Given the description of an element on the screen output the (x, y) to click on. 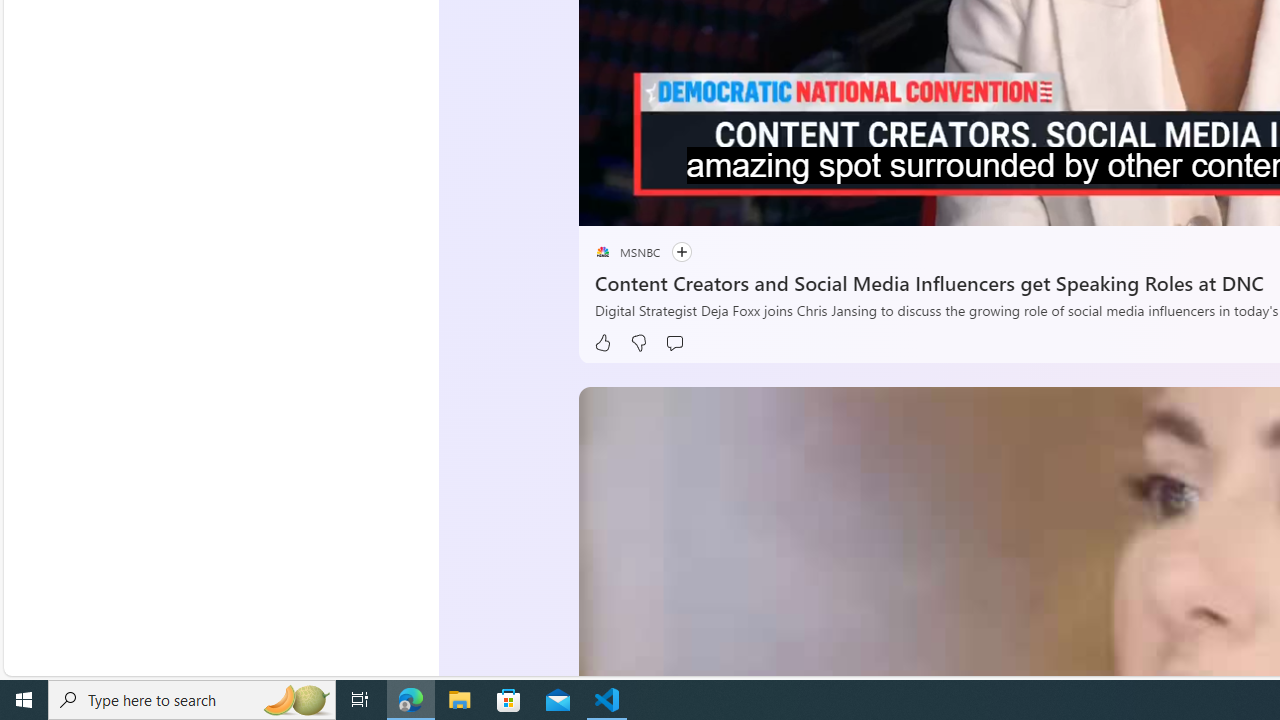
Pause (607, 203)
placeholder (601, 252)
placeholder MSNBC (626, 252)
Seek Back (648, 203)
Seek Forward (688, 203)
Follow (671, 251)
Like (601, 343)
